Given the description of an element on the screen output the (x, y) to click on. 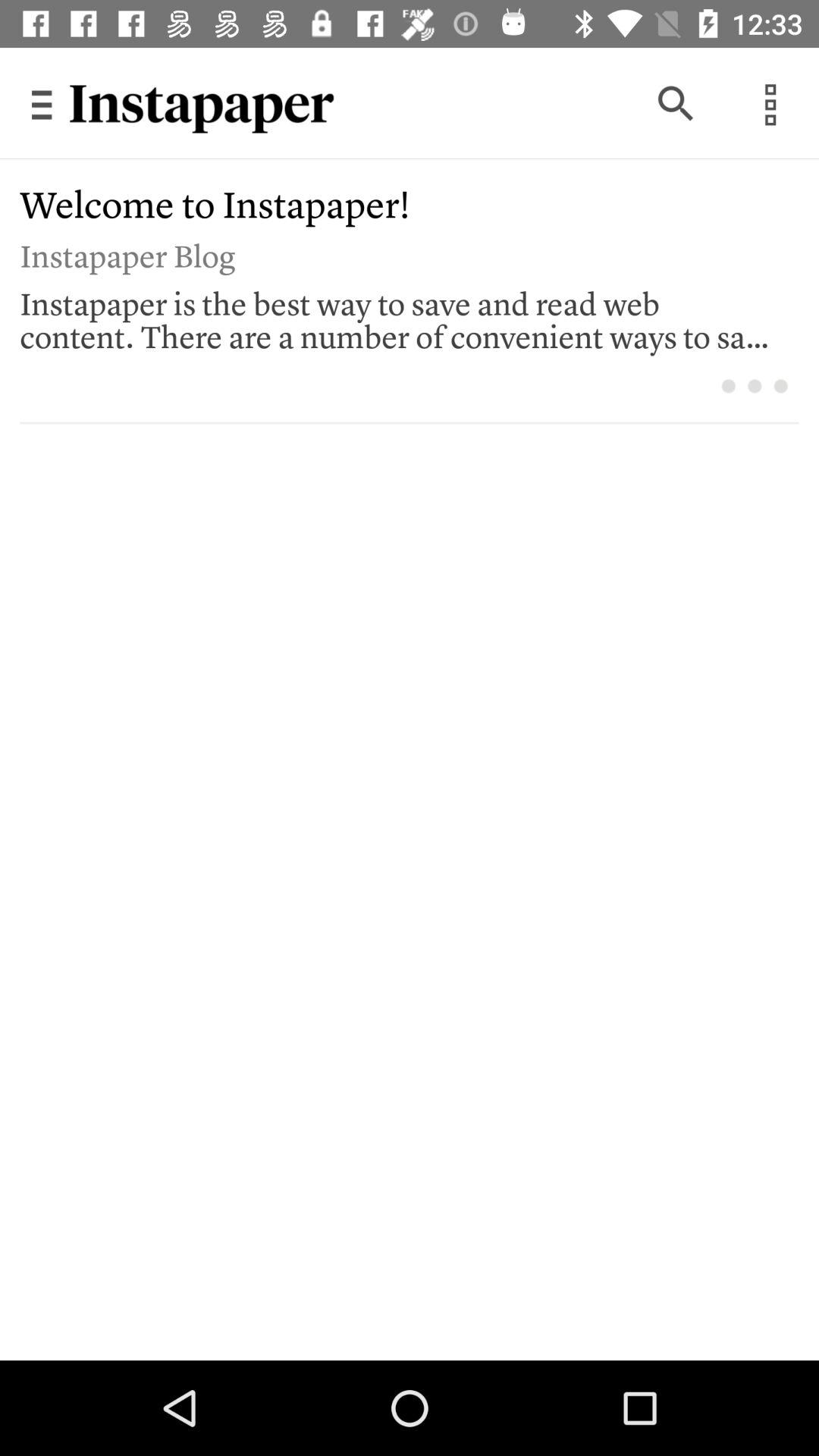
turn on item below the instapaper blog icon (399, 316)
